Given the description of an element on the screen output the (x, y) to click on. 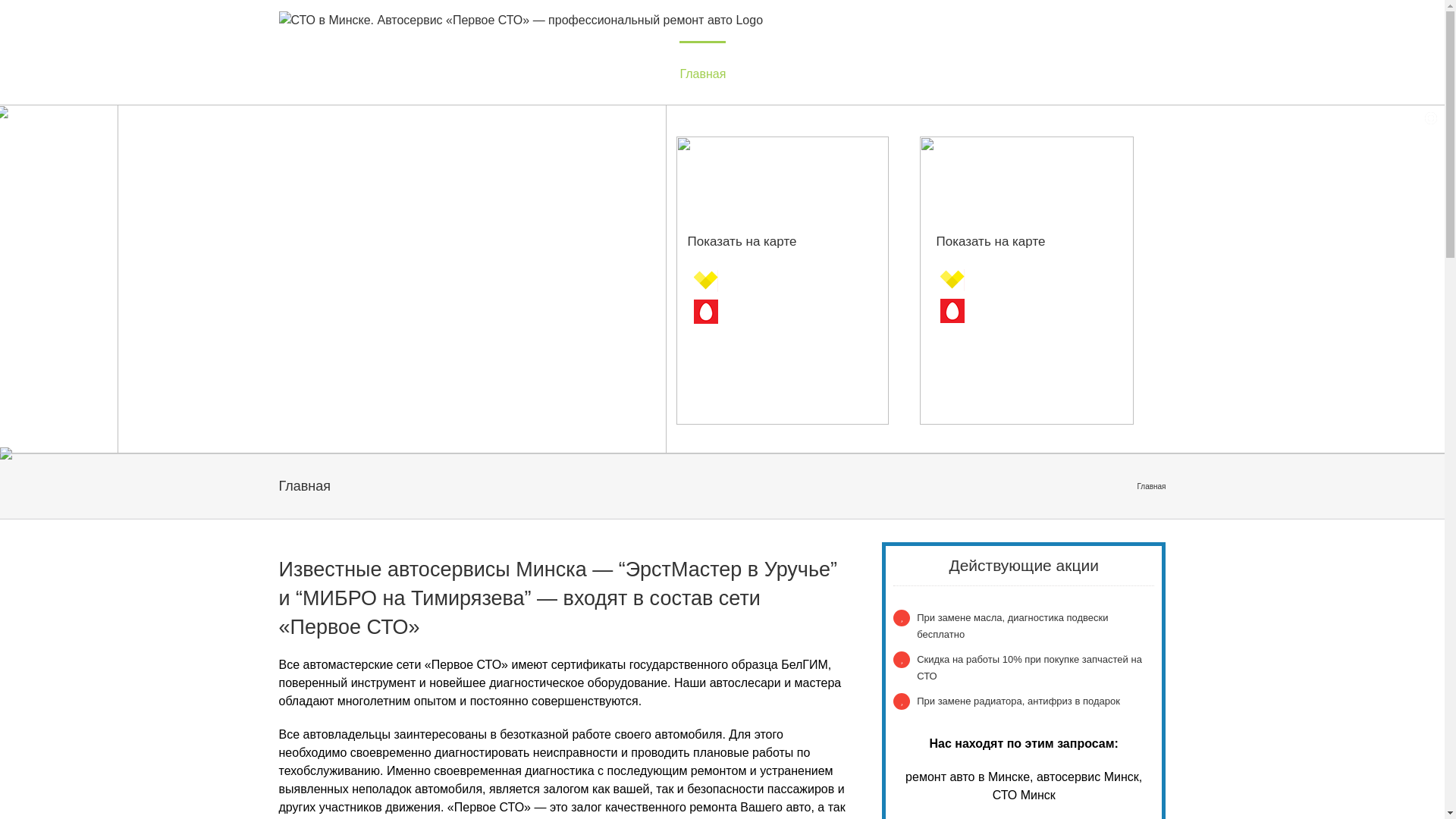
+375 (29) 6446495 Element type: text (1023, 278)
+375 (29) 7532737 Element type: text (1023, 310)
+375 (29) 3182800 Element type: text (776, 279)
Search Element type: hover (1159, 72)
+375 (29) 7462800 Element type: text (776, 310)
